Given the description of an element on the screen output the (x, y) to click on. 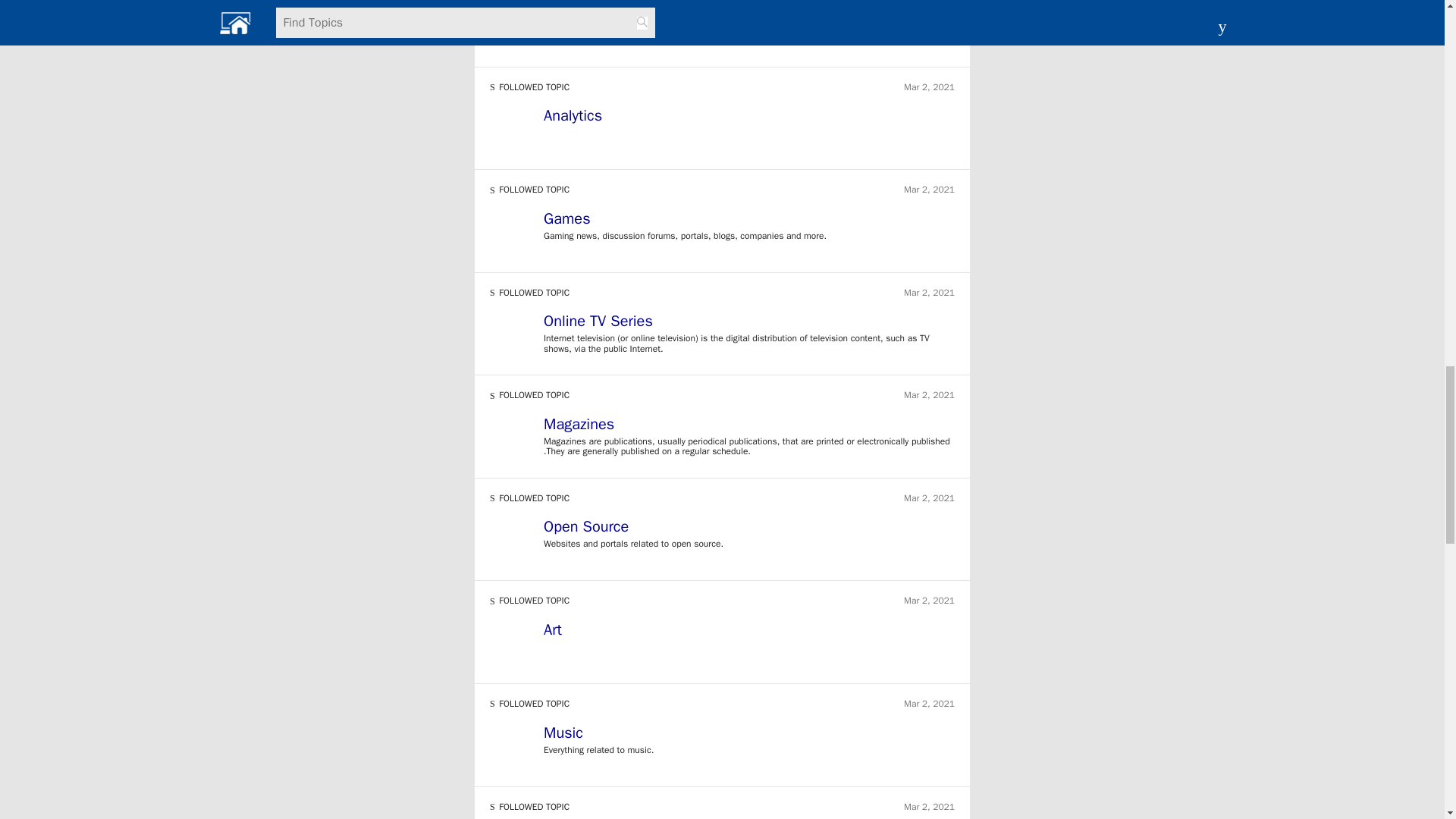
Blogs (749, 14)
Analytics (749, 117)
Games (749, 220)
Magazines (749, 426)
Online TV Series (749, 322)
